Given the description of an element on the screen output the (x, y) to click on. 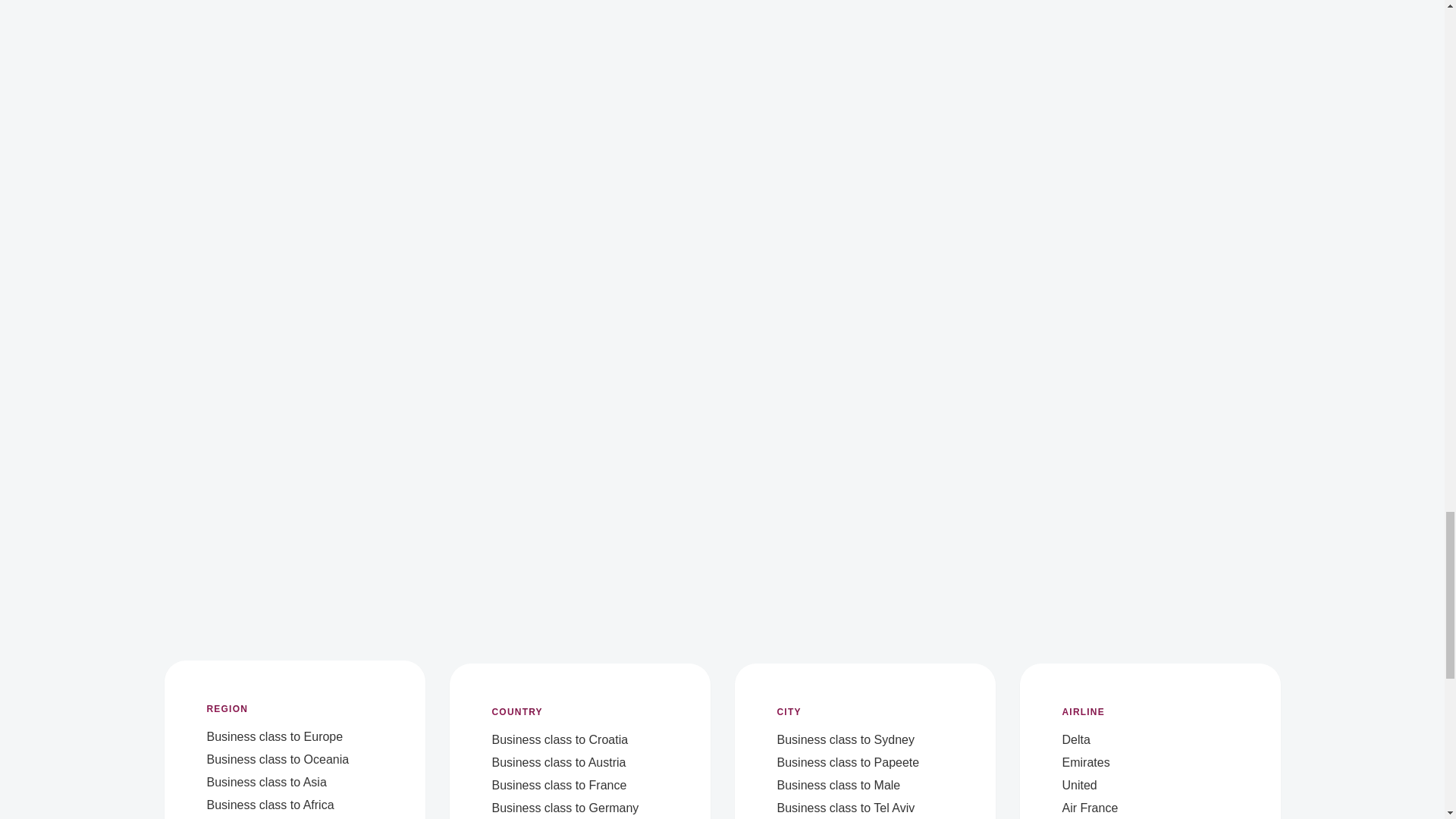
Business class flights to Asia (266, 781)
Business class flights to Oceania (277, 758)
Business class flights to Africa (269, 804)
Business class flights to Europe (274, 736)
